Given the description of an element on the screen output the (x, y) to click on. 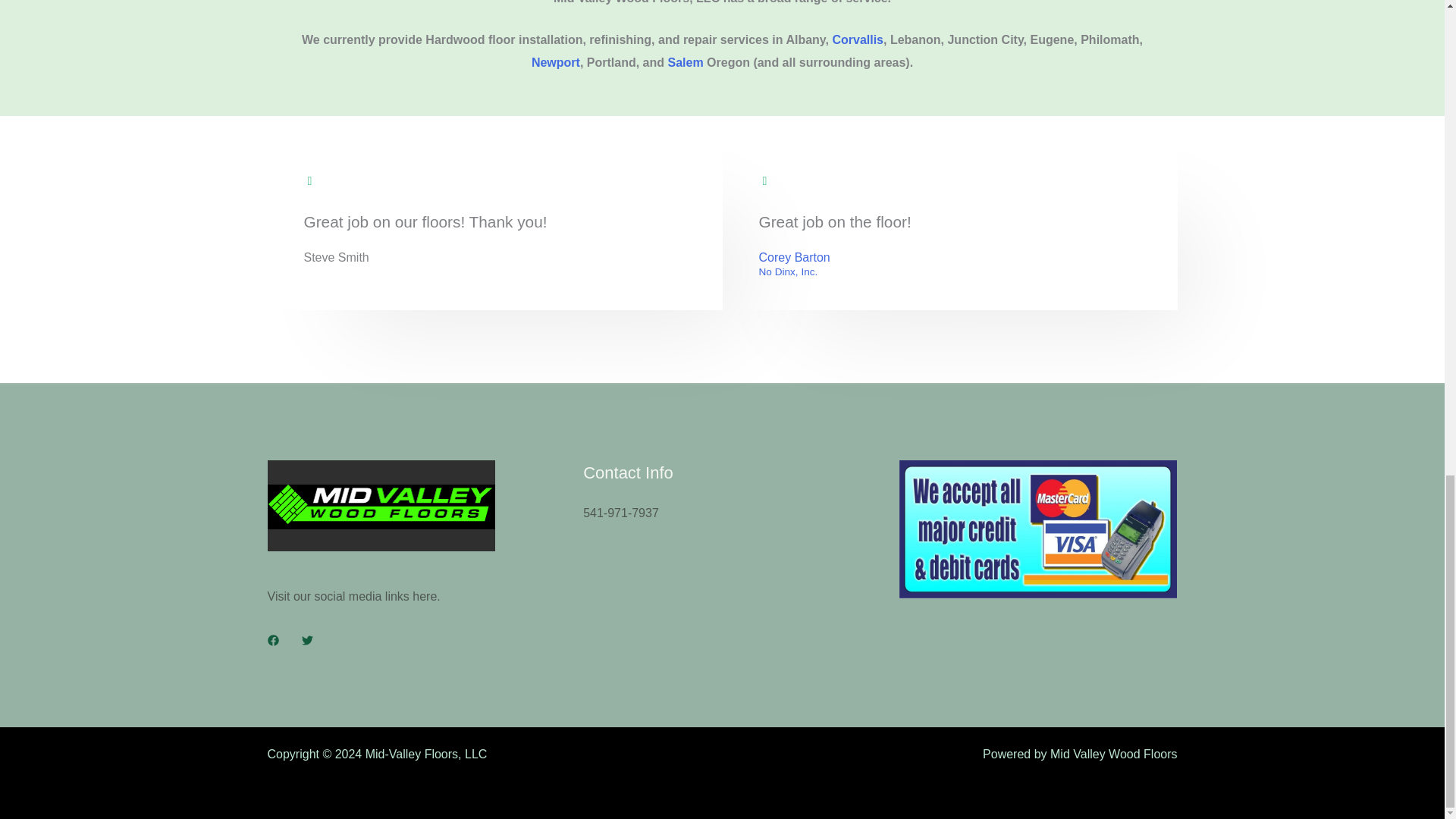
No Dinx, Inc. (793, 271)
Newport (555, 62)
Corey Barton (793, 257)
Corvallis (857, 39)
Salem (684, 62)
